Given the description of an element on the screen output the (x, y) to click on. 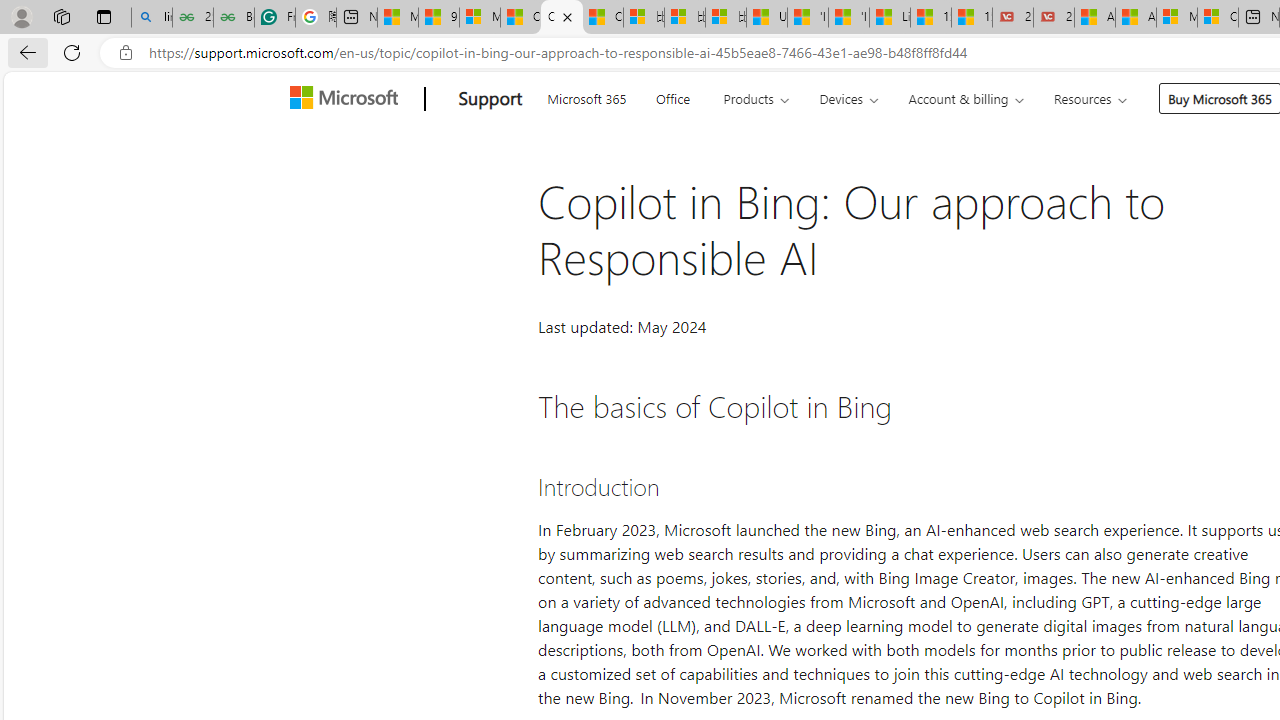
Free AI Writing Assistance for Students | Grammarly (274, 17)
Office (672, 96)
25 Basic Linux Commands For Beginners - GeeksforGeeks (192, 17)
Microsoft Services Agreement (1176, 17)
